Given the description of an element on the screen output the (x, y) to click on. 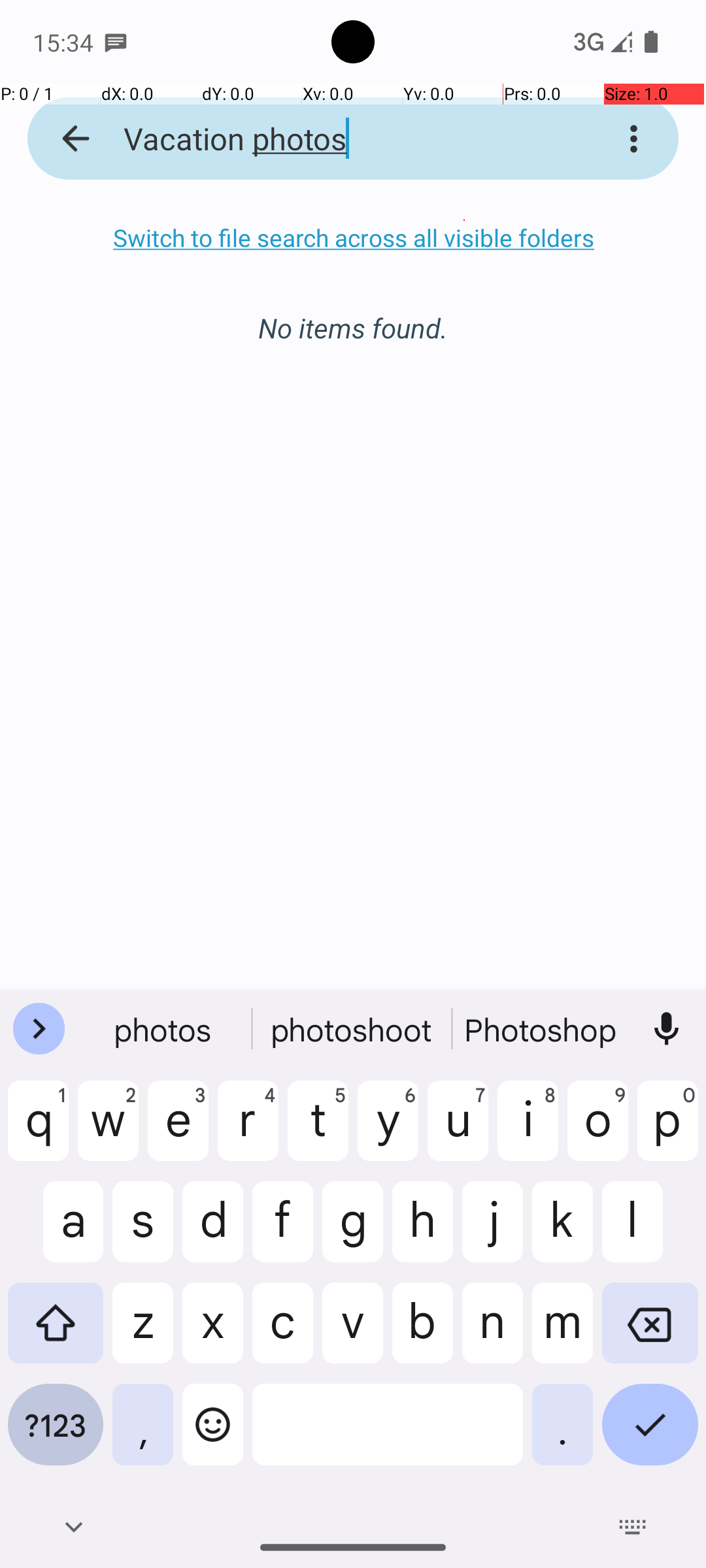
Switch to file search across all visible folders Element type: android.widget.TextView (353, 237)
No items found. Element type: android.widget.TextView (353, 313)
Vacation photos Element type: android.widget.EditText (335, 138)
photos Element type: android.widget.FrameLayout (163, 1028)
photoshoot Element type: android.widget.FrameLayout (352, 1028)
Photoshop Element type: android.widget.FrameLayout (541, 1028)
